Given the description of an element on the screen output the (x, y) to click on. 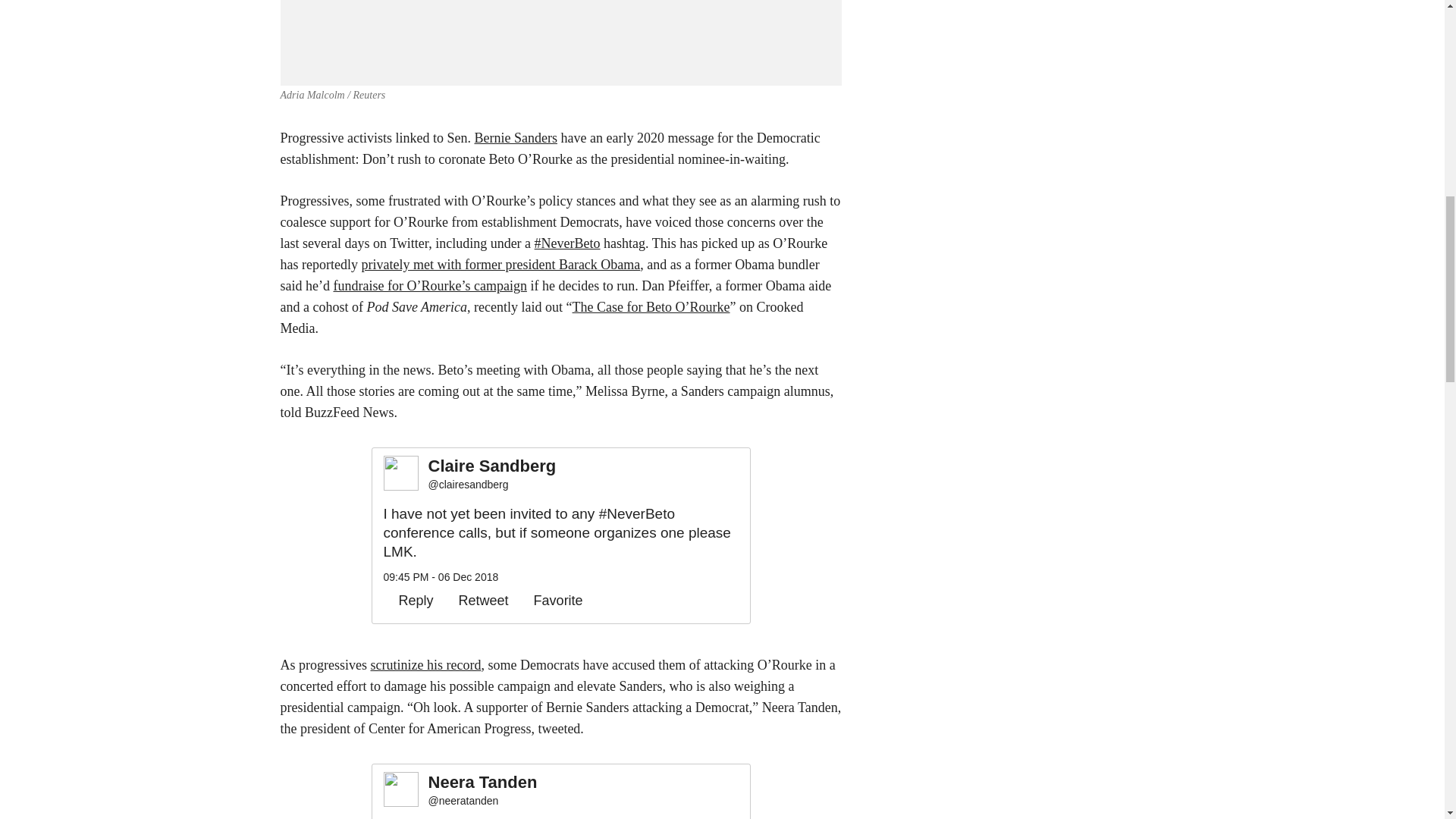
Neera Tanden (482, 782)
Bernie Sanders (515, 137)
Retweet (476, 600)
Reply (408, 600)
09:45 PM - 06 Dec 2018 (441, 576)
scrutinize his record (424, 664)
privately met with former president Barack Obama (500, 264)
Claire Sandberg (492, 466)
Favorite (550, 600)
